Given the description of an element on the screen output the (x, y) to click on. 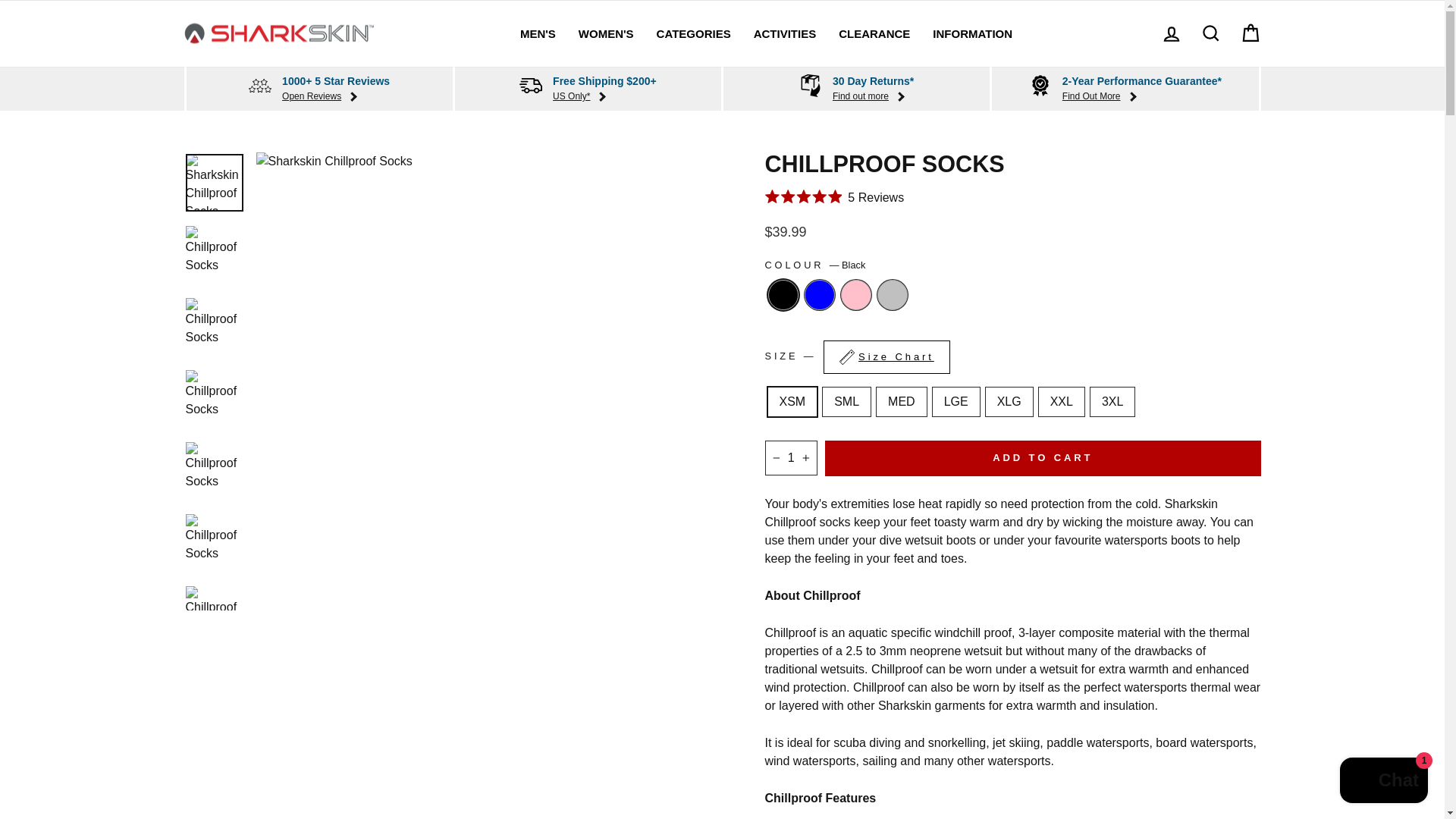
1 (790, 457)
Shopify online store chat (1383, 781)
